Given the description of an element on the screen output the (x, y) to click on. 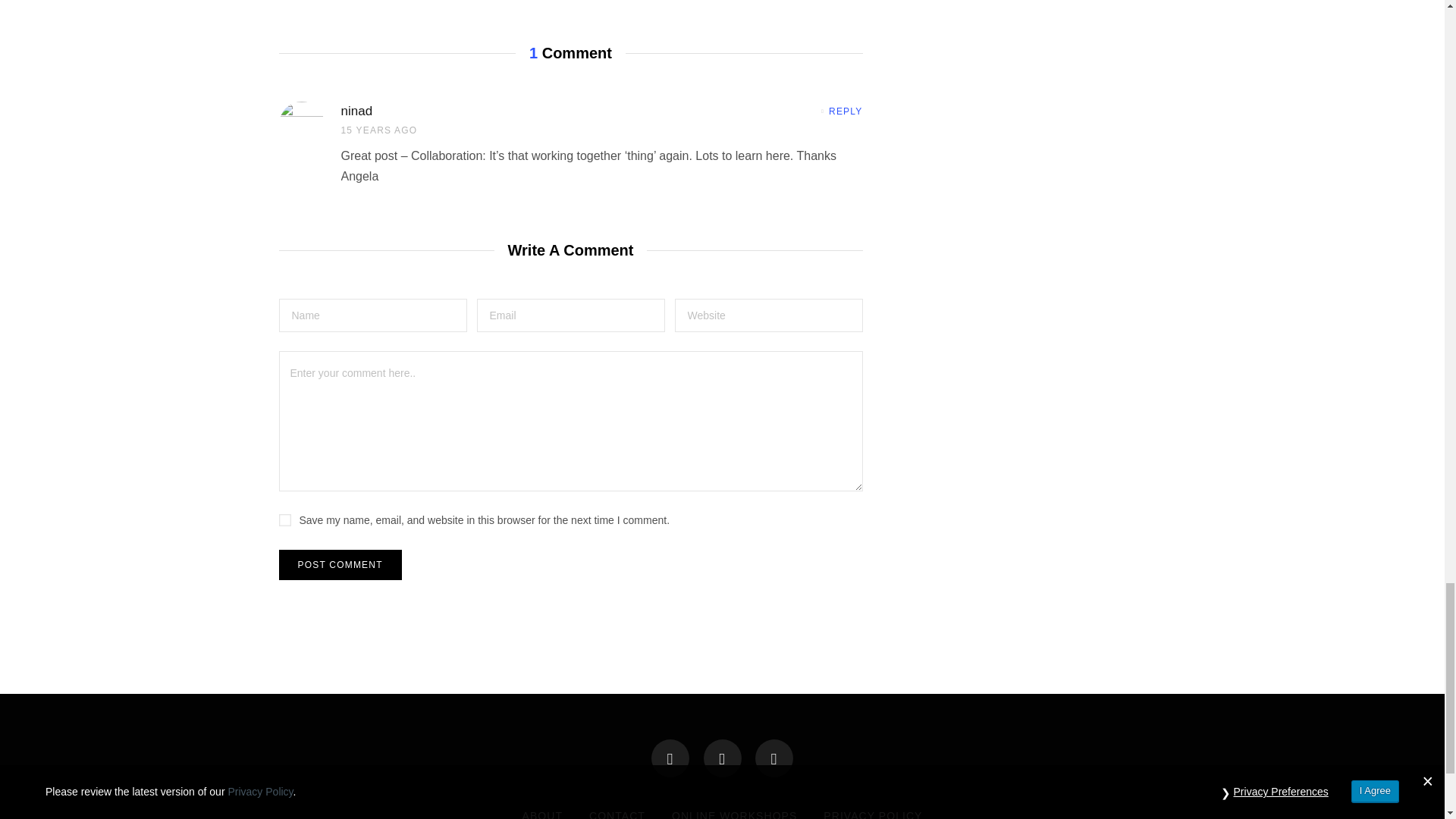
REPLY (841, 111)
Post Comment (340, 564)
Post Comment (340, 564)
yes (285, 520)
15 YEARS AGO (378, 130)
ninad (356, 110)
